Given the description of an element on the screen output the (x, y) to click on. 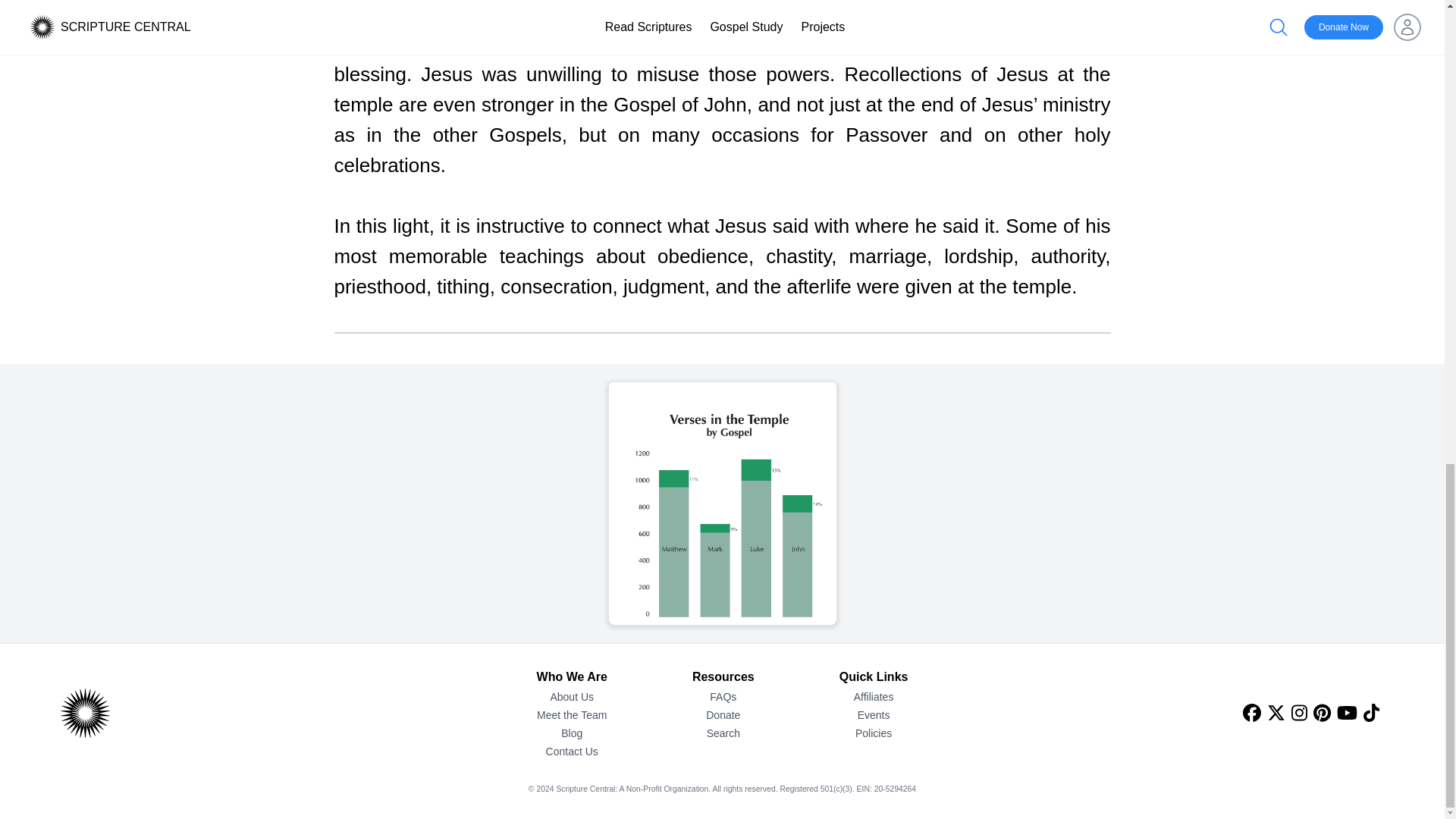
Policies (873, 733)
Blog (571, 733)
Donate (722, 714)
Events (873, 714)
FAQs (723, 696)
Contact Us (572, 751)
Search (722, 733)
Meet the Team (572, 714)
Affiliates (873, 696)
About Us (572, 696)
